Given the description of an element on the screen output the (x, y) to click on. 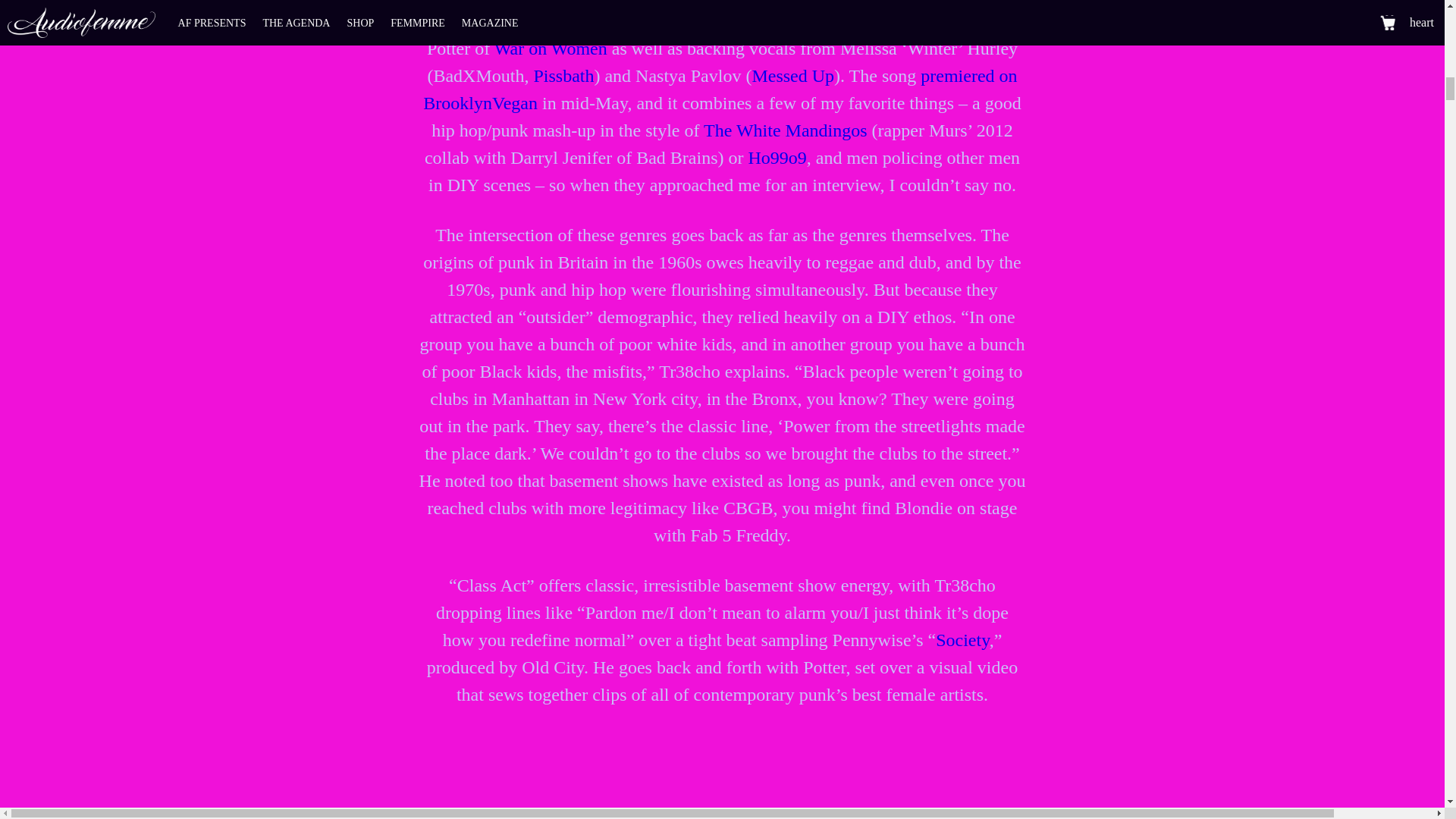
Messed Up (792, 75)
BrooklynVegan (480, 103)
YouTube video player (722, 775)
Ho99o9 (777, 157)
Society (962, 639)
War on Women (551, 48)
Pissbath (563, 75)
The White Mandingos (785, 130)
premiered on (968, 75)
